Given the description of an element on the screen output the (x, y) to click on. 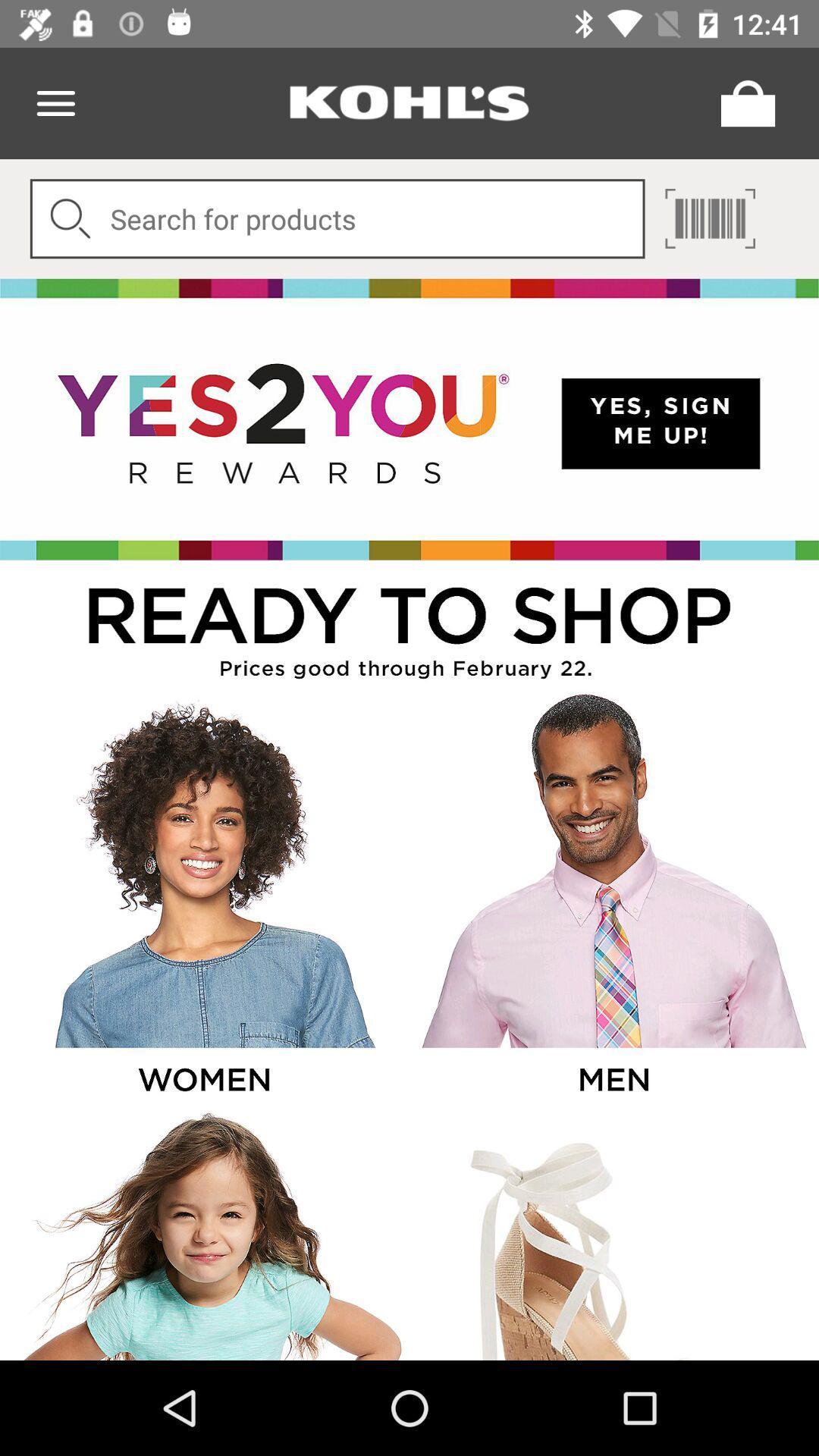
select womens clothing (203, 899)
